Given the description of an element on the screen output the (x, y) to click on. 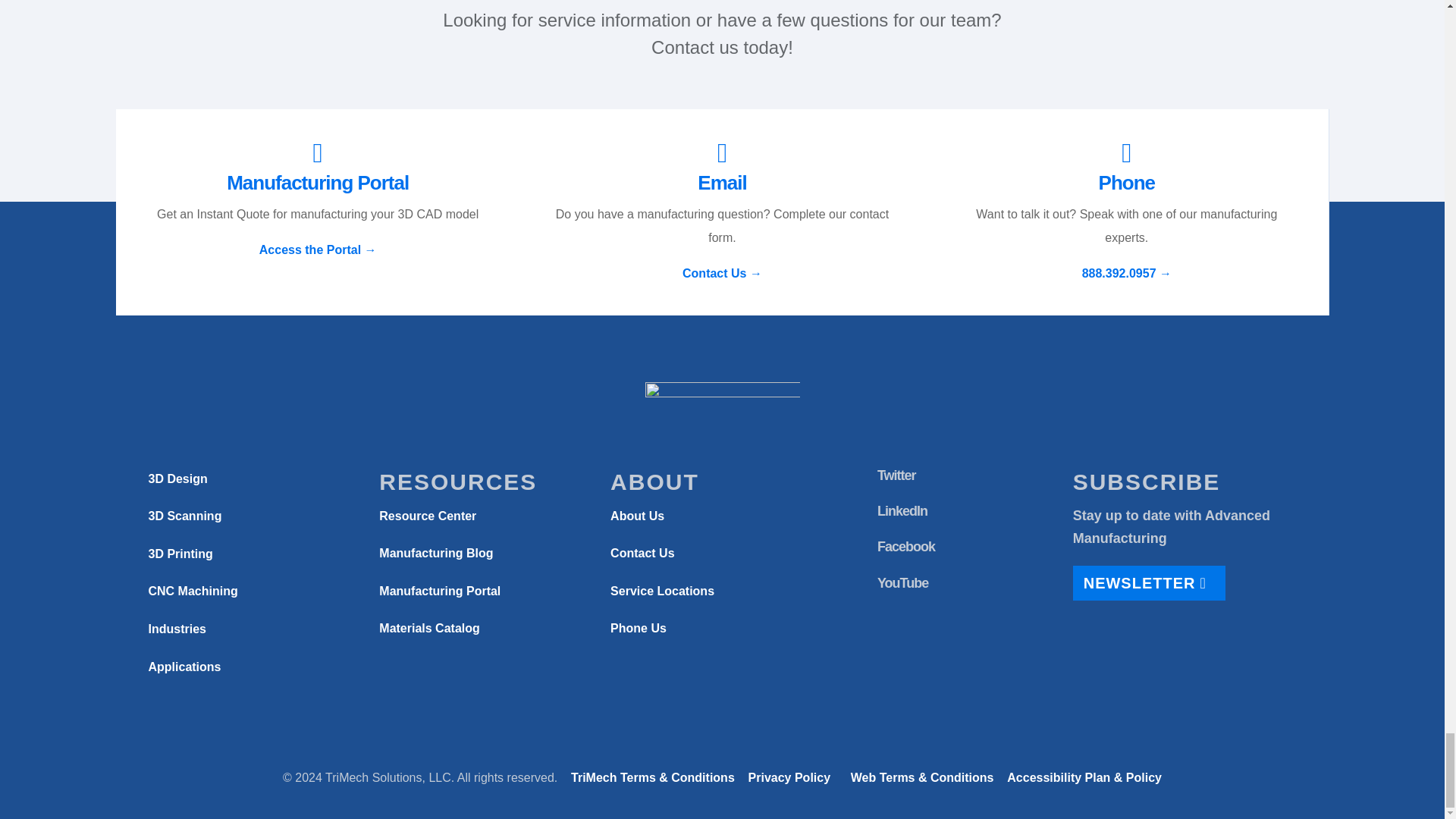
trimech-notag-1color-white (722, 395)
